Given the description of an element on the screen output the (x, y) to click on. 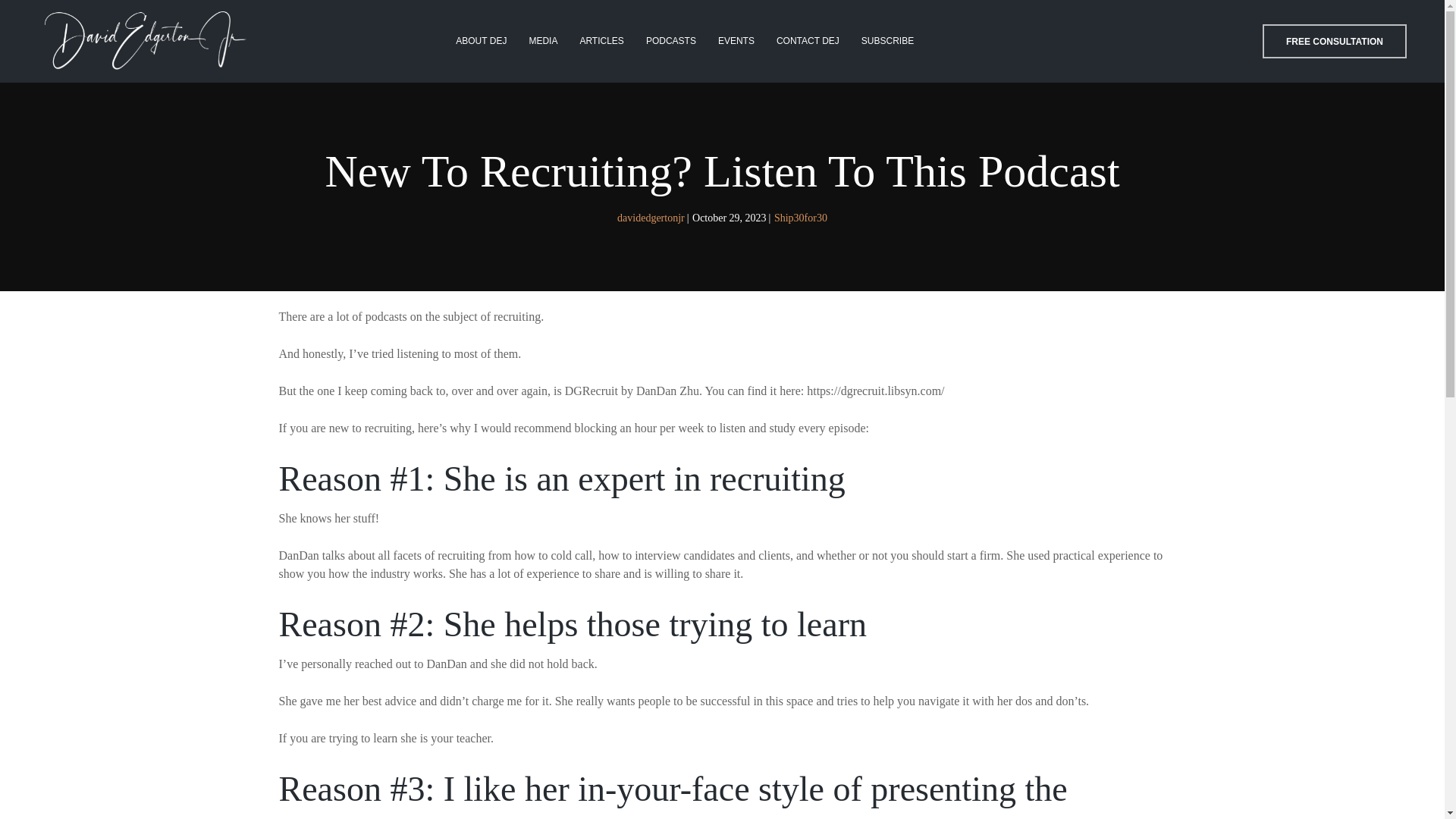
MEDIA (542, 40)
FREE CONSULTATION (1334, 41)
ABOUT DEJ (480, 40)
SUBSCRIBE (887, 40)
PODCASTS (670, 40)
EVENTS (735, 40)
Ship30for30 (800, 217)
CONTACT DEJ (808, 40)
davidedgertonjr (650, 217)
ARTICLES (601, 40)
